Given the description of an element on the screen output the (x, y) to click on. 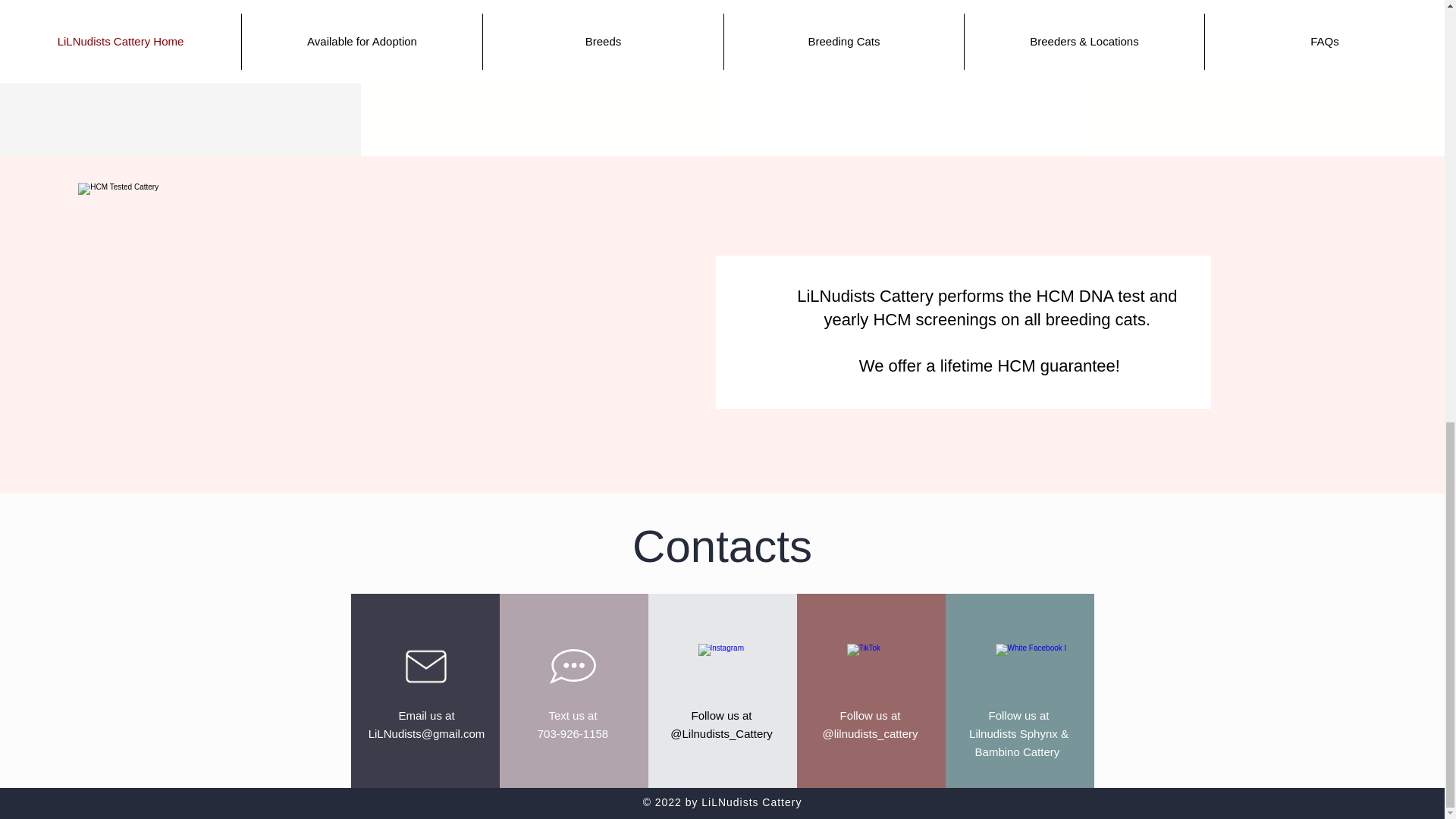
Meet the Team (1262, 19)
Learn More (542, 20)
